Given the description of an element on the screen output the (x, y) to click on. 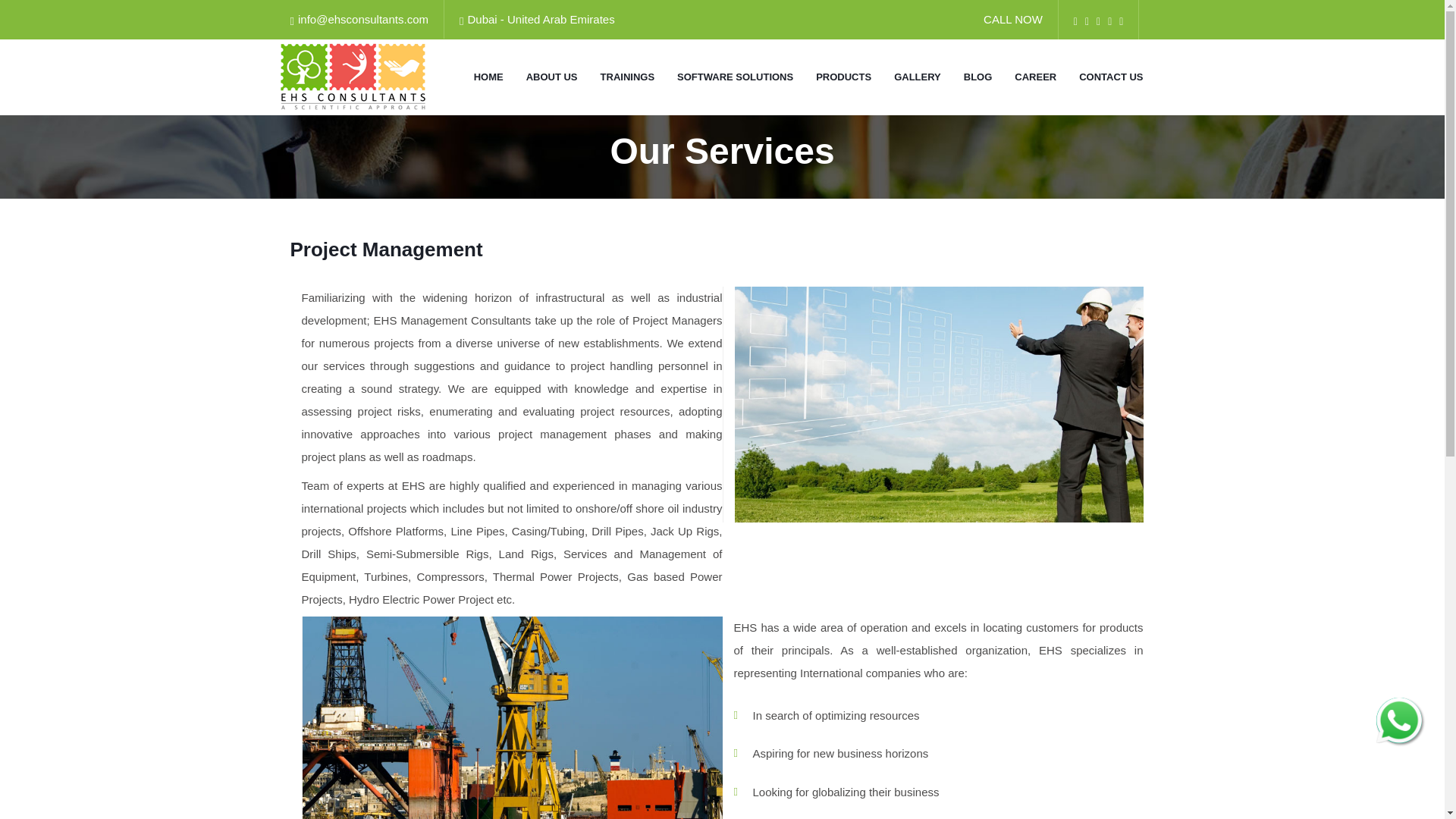
CONTACT US (1110, 77)
PRODUCTS (843, 77)
SOFTWARE SOLUTIONS (735, 77)
CALL NOW (1013, 19)
TRAININGS (627, 77)
ABOUT US (552, 77)
GALLERY (917, 77)
